Given the description of an element on the screen output the (x, y) to click on. 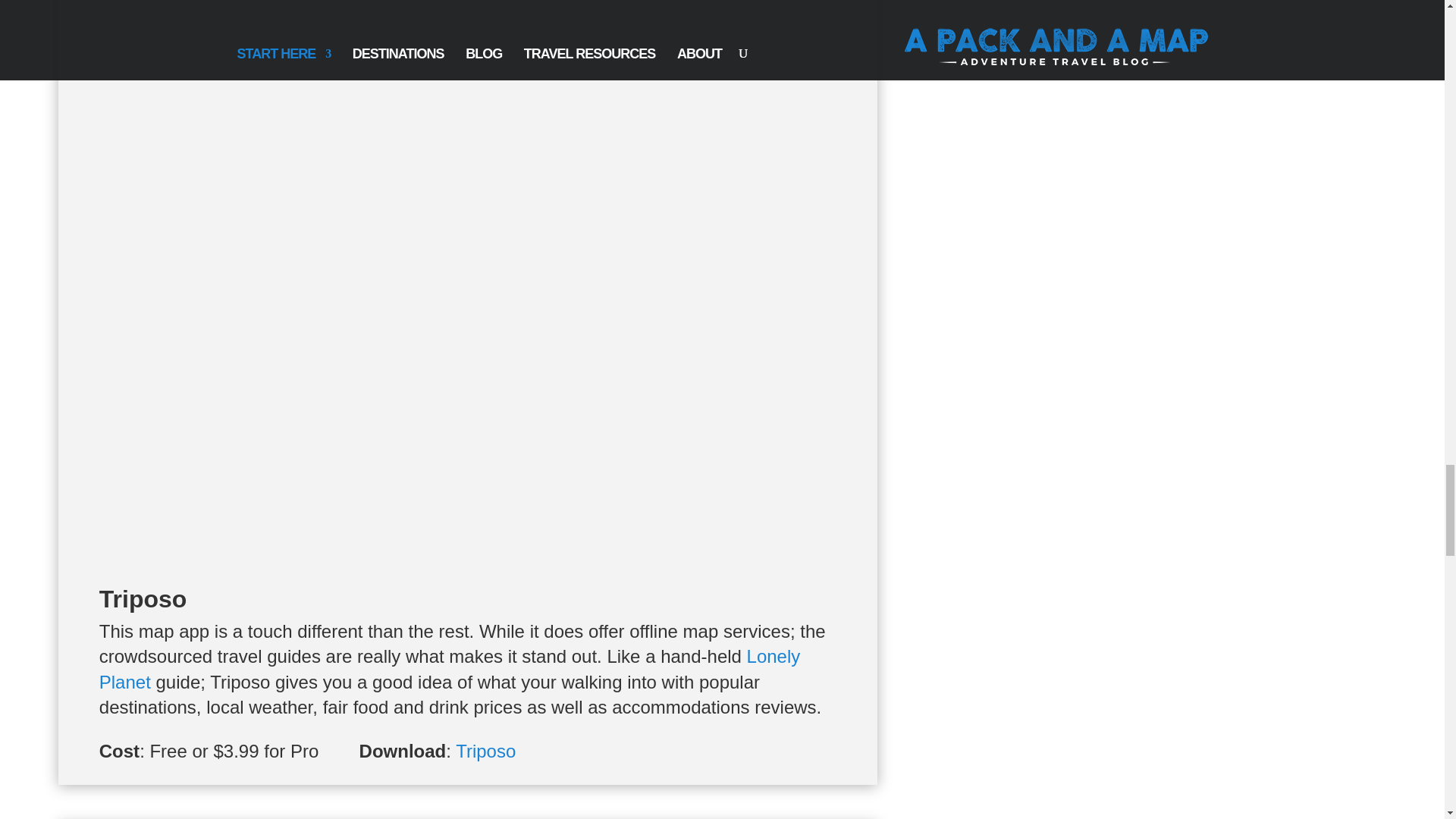
Triposo (485, 751)
Lonely Planet (449, 669)
